Given the description of an element on the screen output the (x, y) to click on. 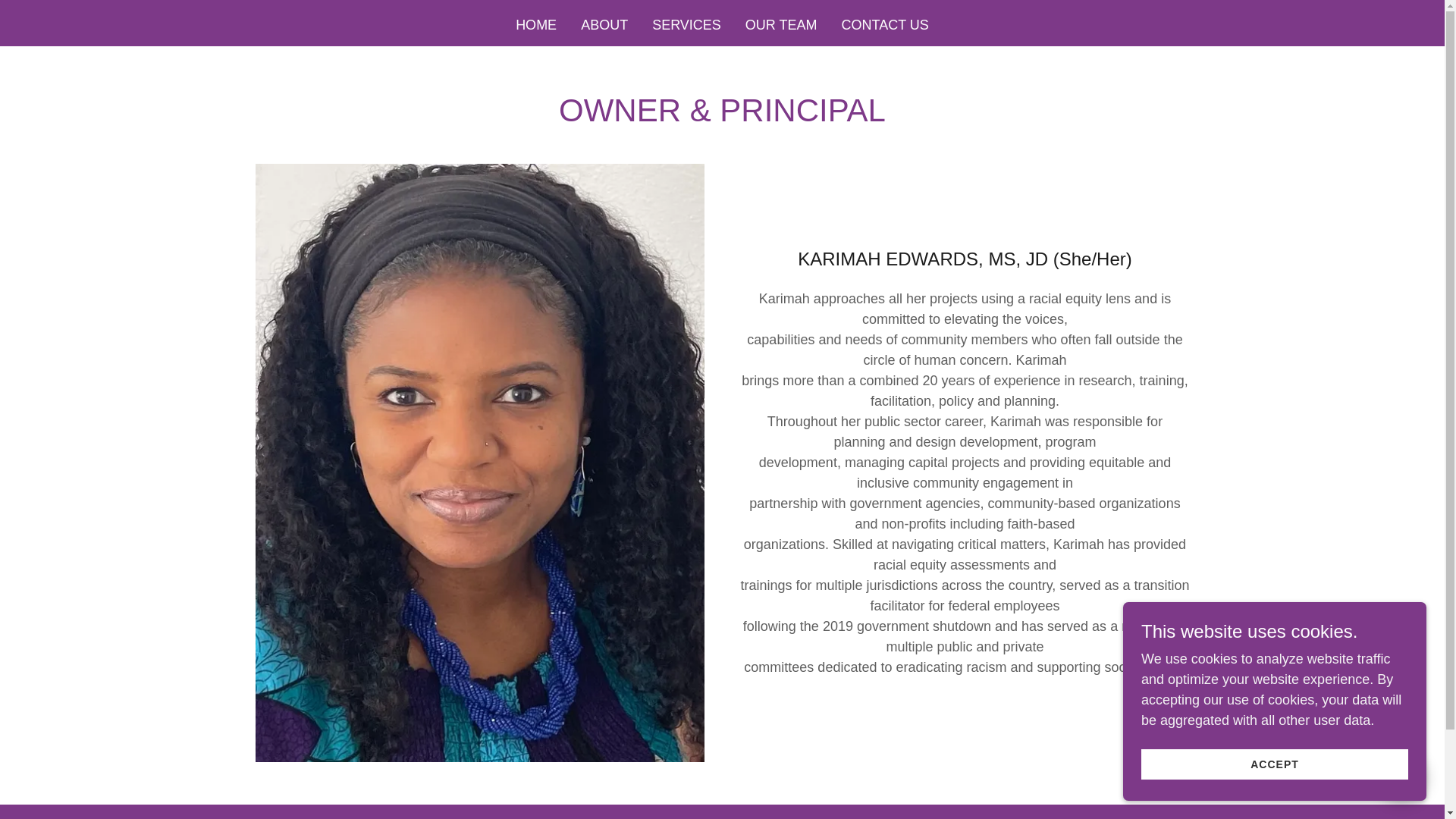
ACCEPT (1274, 764)
ABOUT (603, 24)
CONTACT US (885, 24)
SERVICES (686, 24)
HOME (535, 24)
OUR TEAM (781, 24)
